Given the description of an element on the screen output the (x, y) to click on. 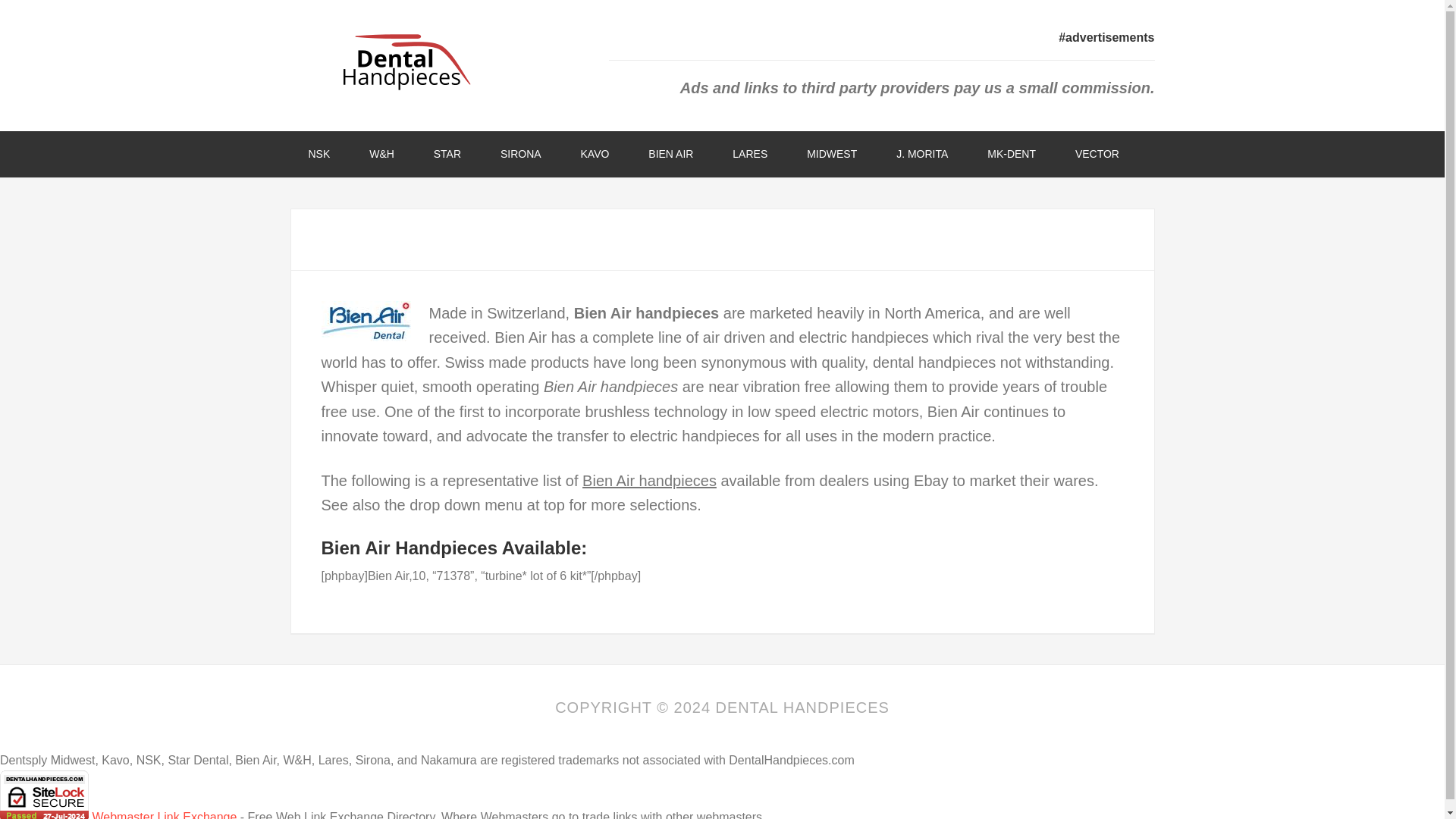
NSK (318, 154)
Dental Handpieces (410, 60)
STAR (446, 154)
bien air (365, 321)
Webmaster Link Exchange (163, 814)
